Given the description of an element on the screen output the (x, y) to click on. 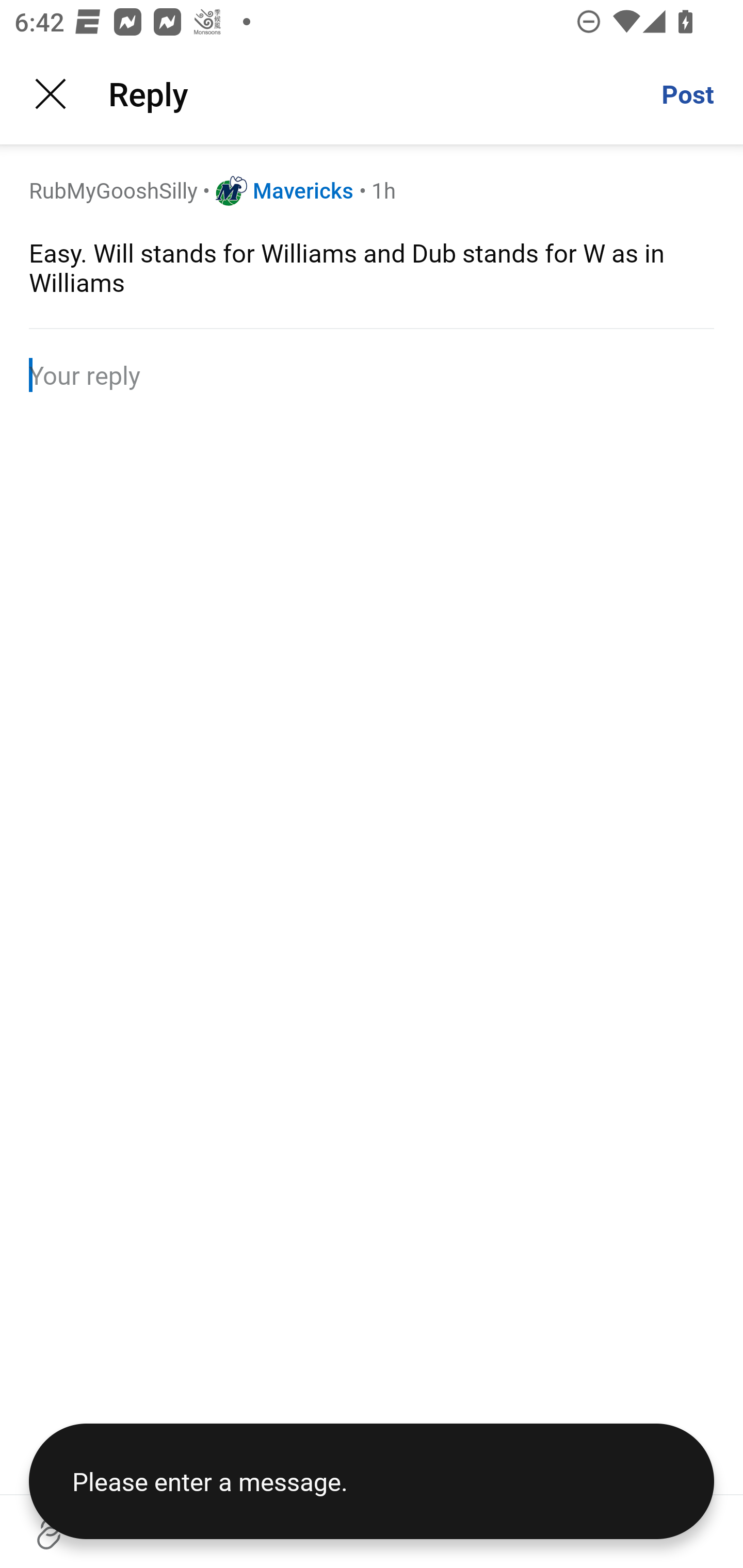
Close (50, 93)
Post (687, 94)
Your reply (371, 374)
